Given the description of an element on the screen output the (x, y) to click on. 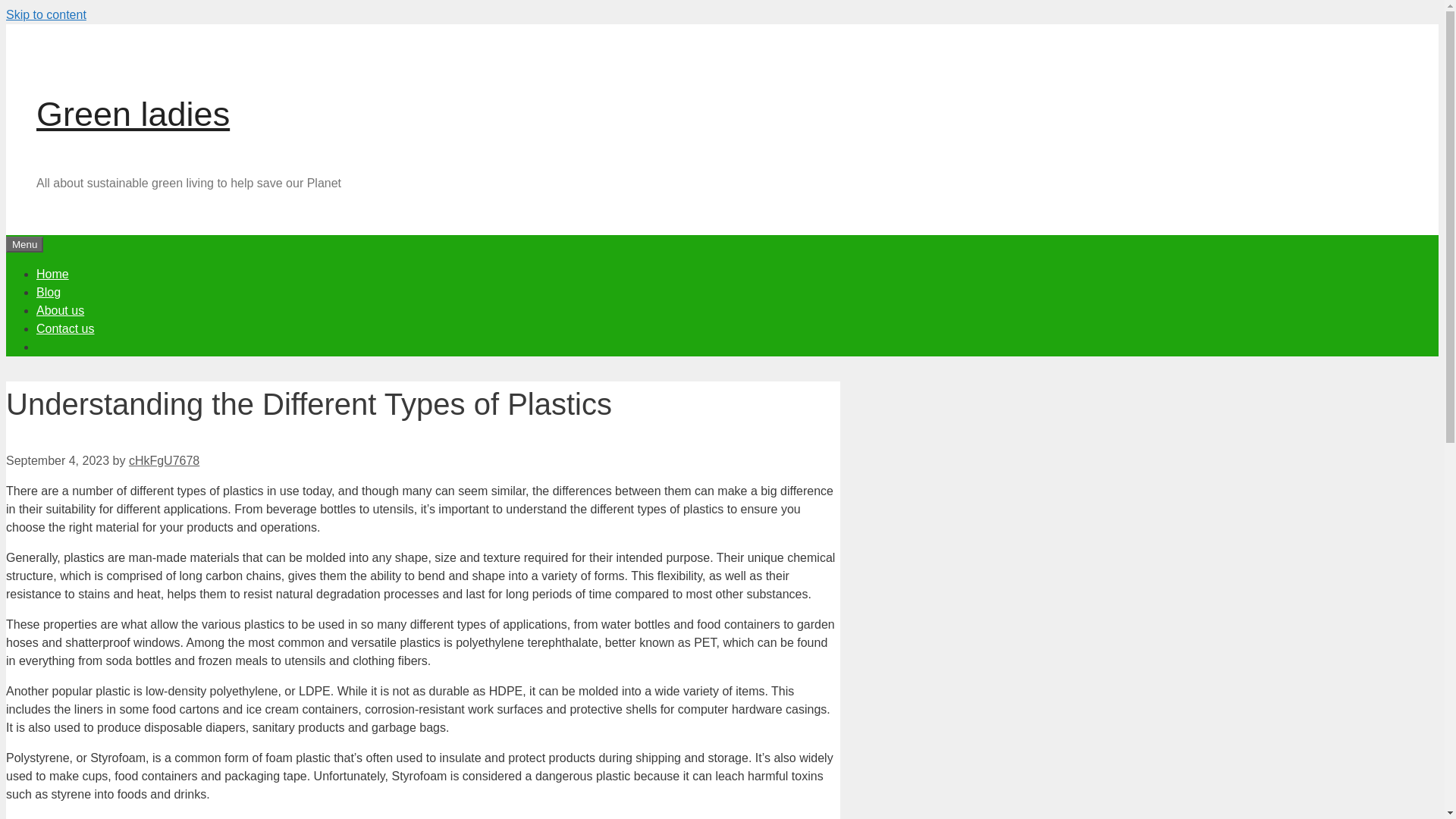
About us (60, 309)
cHkFgU7678 (164, 460)
Menu (24, 244)
Skip to content (45, 14)
View all posts by cHkFgU7678 (164, 460)
Blog (48, 291)
Skip to content (45, 14)
Contact us (65, 327)
Home (52, 273)
Green ladies (133, 114)
